Given the description of an element on the screen output the (x, y) to click on. 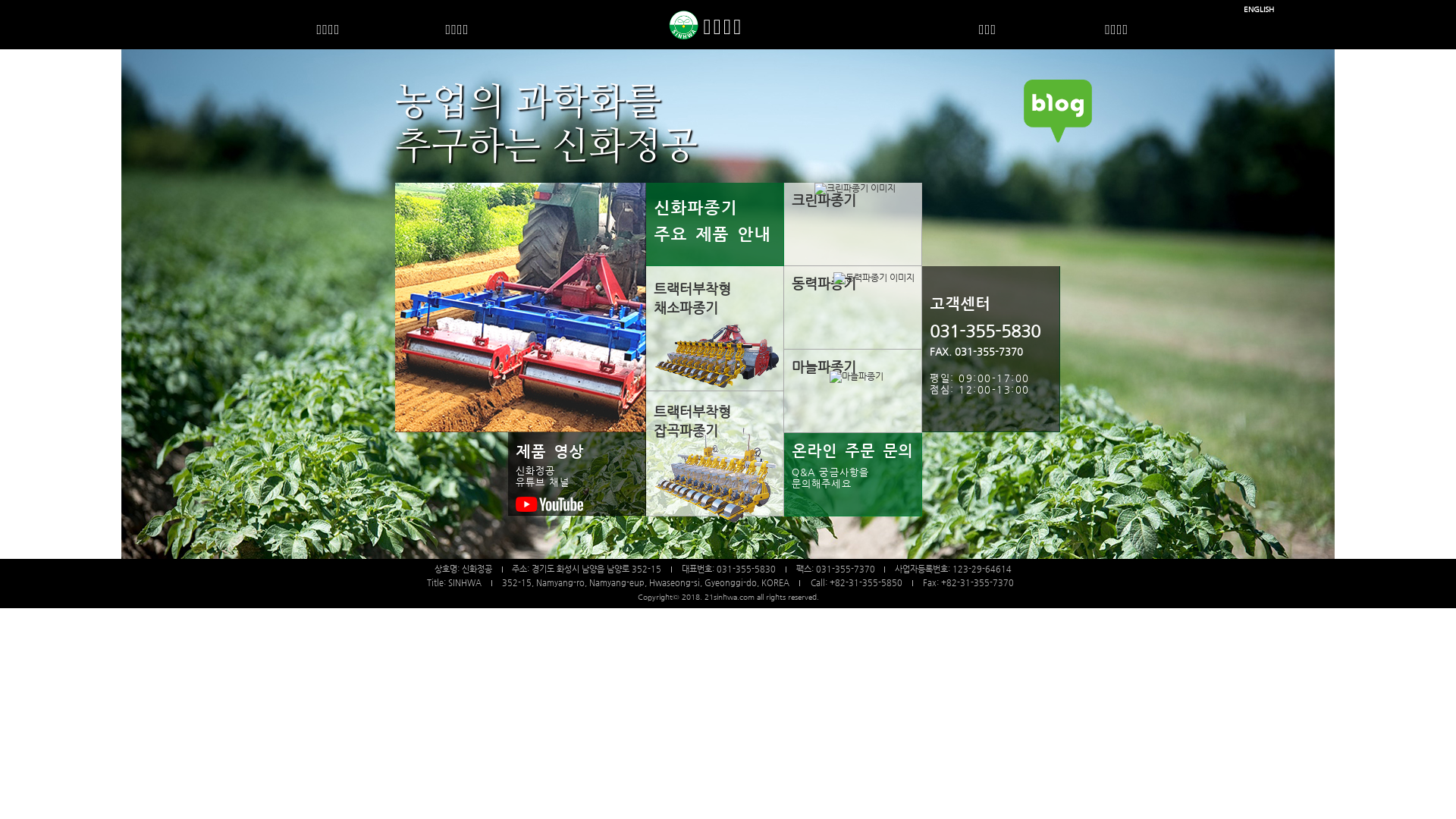
ENGLISH Element type: text (1258, 9)
